Given the description of an element on the screen output the (x, y) to click on. 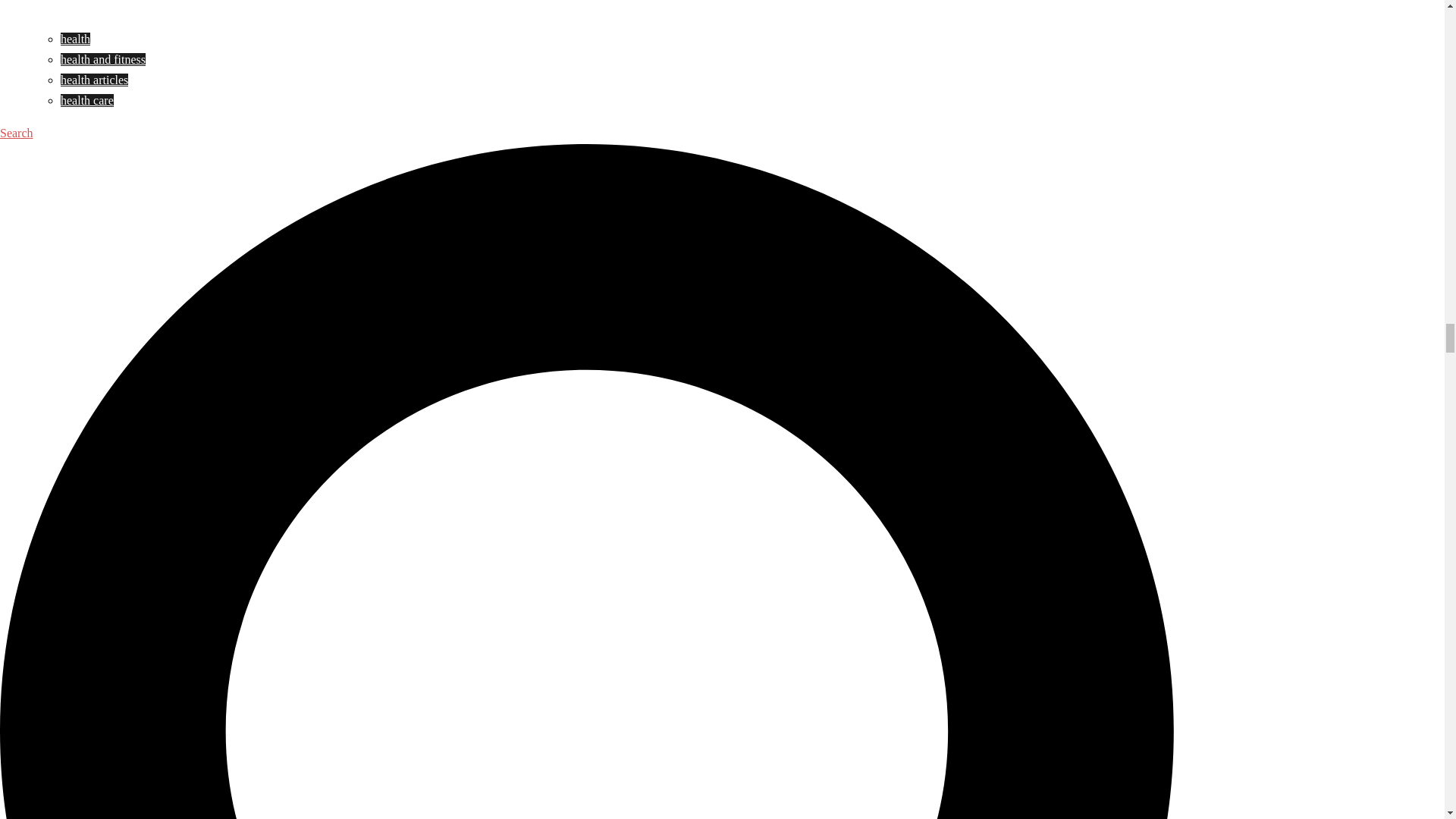
health articles (94, 79)
health care (87, 100)
health and fitness (103, 59)
health (75, 38)
